Given the description of an element on the screen output the (x, y) to click on. 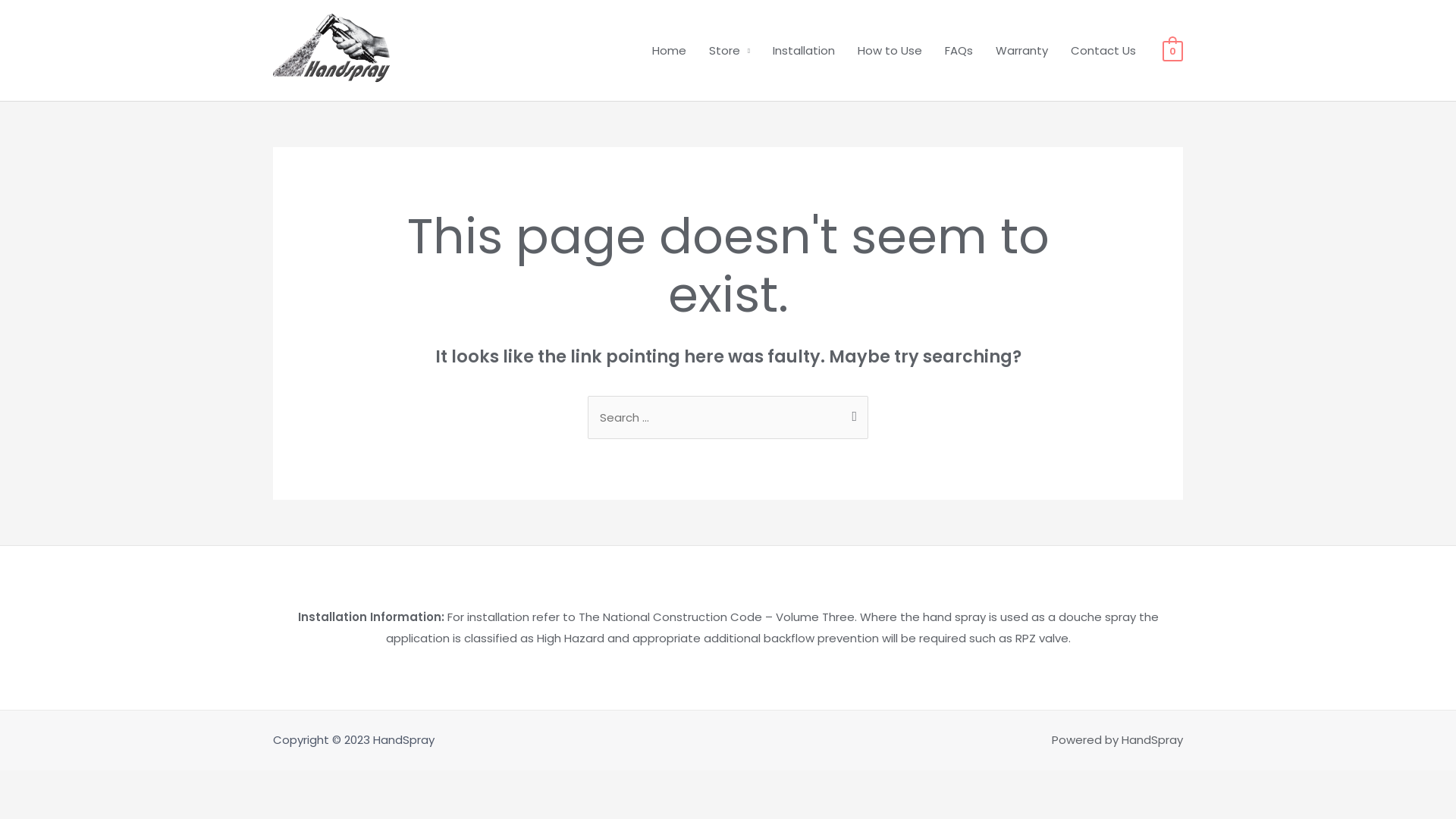
Home Element type: text (668, 50)
Search Element type: text (851, 409)
Contact Us Element type: text (1103, 50)
0 Element type: text (1172, 50)
FAQs Element type: text (958, 50)
Warranty Element type: text (1021, 50)
How to Use Element type: text (889, 50)
Installation Element type: text (803, 50)
Store Element type: text (729, 50)
